Given the description of an element on the screen output the (x, y) to click on. 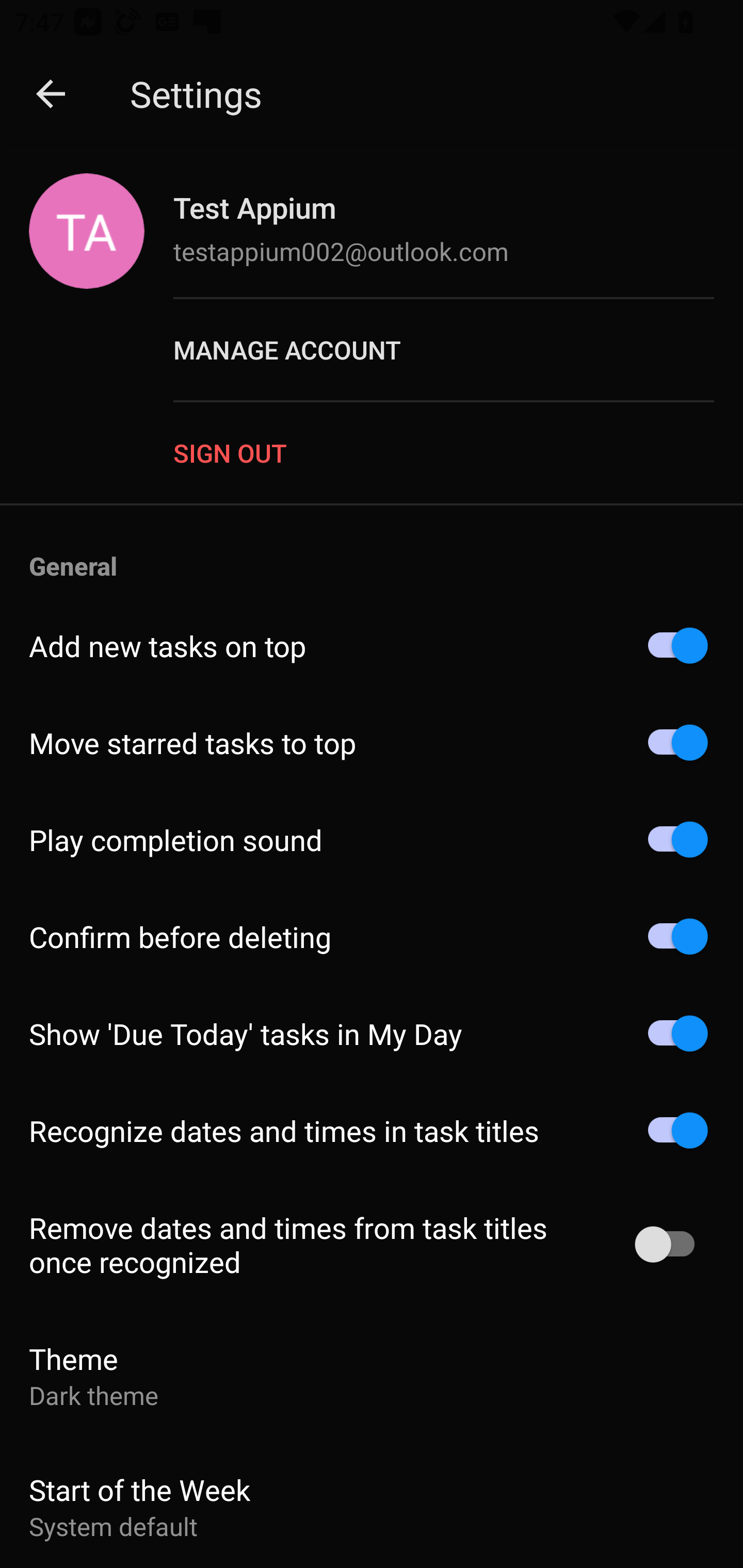
Navigate up (50, 93)
MANAGE ACCOUNT (458, 349)
SIGN OUT (458, 452)
Add new tasks on top (371, 645)
Move starred tasks to top (371, 742)
Play completion sound (371, 839)
Confirm before deleting (371, 935)
Show 'Due Today' tasks in My Day (371, 1032)
Recognize dates and times in task titles (371, 1130)
Theme Dark theme (371, 1375)
Start of the Week System default (371, 1504)
